Given the description of an element on the screen output the (x, y) to click on. 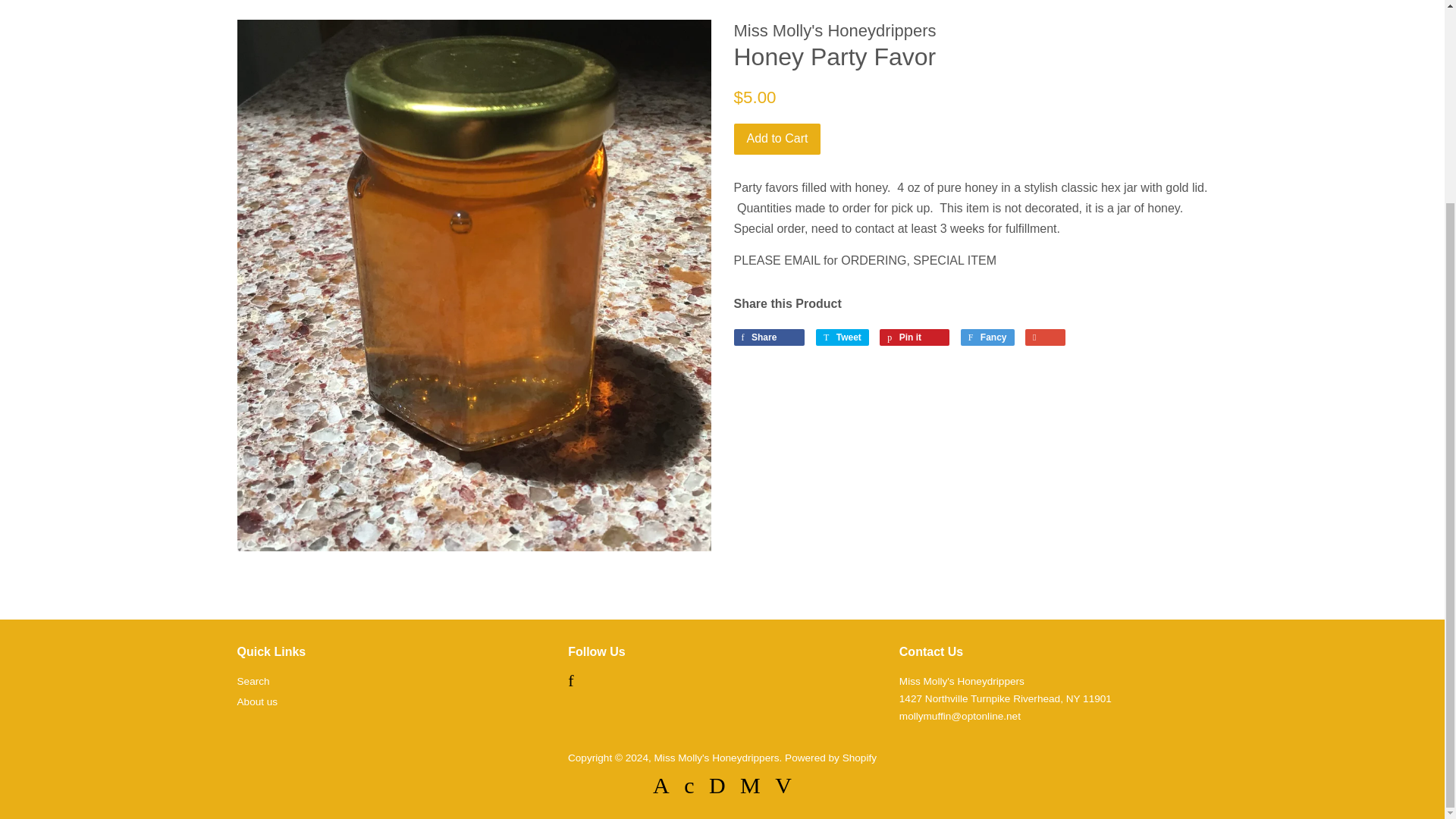
Miss Molly's Honeydrippers (715, 757)
Share on Facebook (769, 337)
Pin on Pinterest (914, 337)
About us (842, 337)
Powered by Shopify (256, 701)
Search (830, 757)
Add to Cart (252, 681)
Add to Fancy (777, 138)
Tweet on Twitter (914, 337)
